Given the description of an element on the screen output the (x, y) to click on. 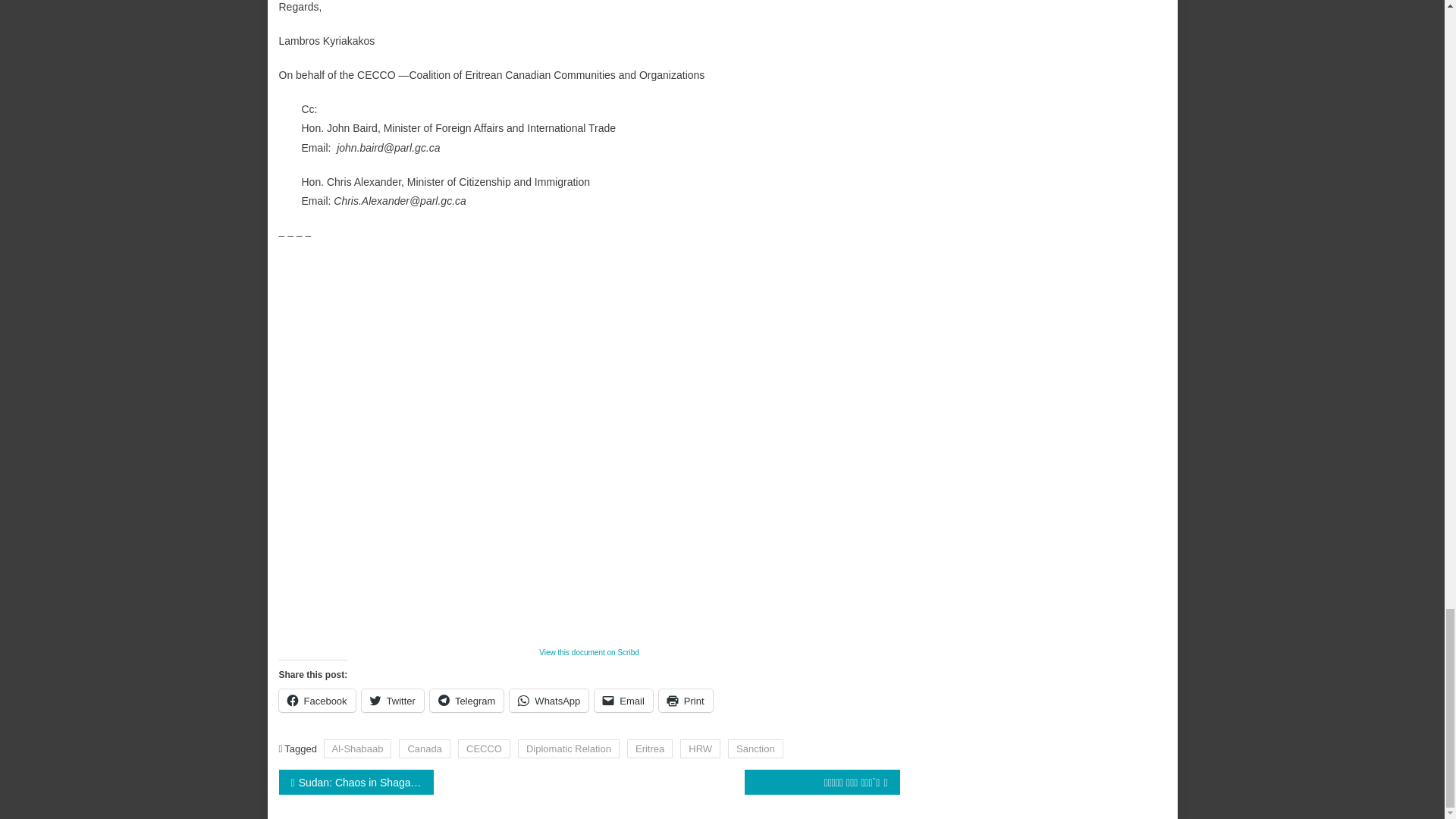
Click to share on Facebook (317, 700)
Twitter (392, 700)
Facebook (317, 700)
Click to share on Telegram (466, 700)
Click to share on WhatsApp (548, 700)
WhatsApp (548, 700)
Al-Shabaab (357, 748)
Email (623, 700)
View this document on Scribd (588, 652)
Click to print (686, 700)
